Given the description of an element on the screen output the (x, y) to click on. 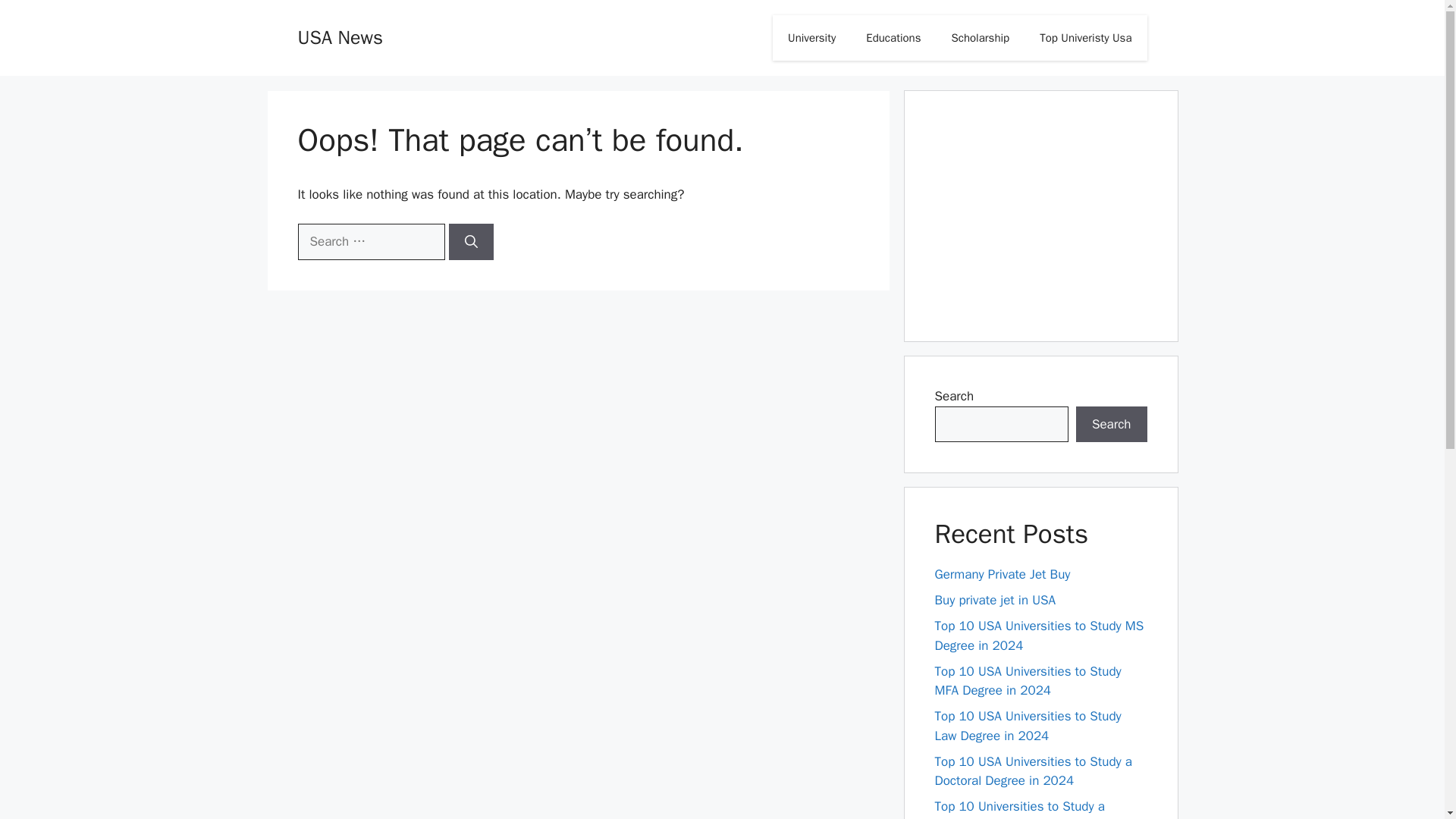
Germany Private Jet Buy (1002, 574)
Top 10 USA Universities to Study MS Degree in 2024 (1038, 635)
Buy private jet in USA (994, 600)
Top 10 Universities to Study a Business Management Degree (1020, 808)
Search for: (370, 241)
University (811, 37)
Top 10 USA Universities to Study a Doctoral Degree in 2024 (1032, 771)
Top Univeristy Usa (1086, 37)
Educations (893, 37)
Top 10 USA Universities to Study MFA Degree in 2024 (1027, 680)
